Given the description of an element on the screen output the (x, y) to click on. 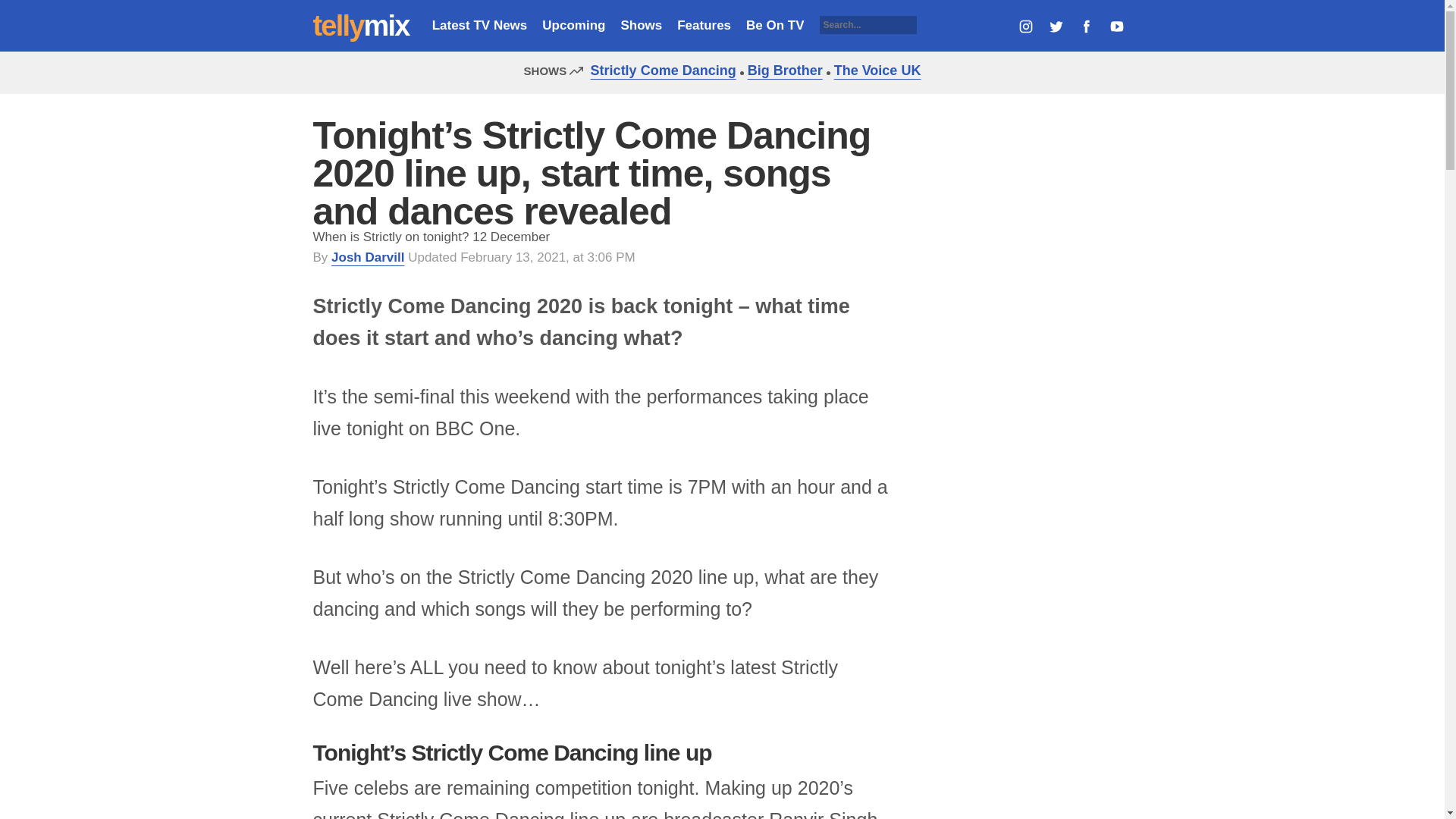
Strictly Come Dancing (659, 70)
Big Brother (780, 70)
Shows (641, 25)
Upcoming (573, 25)
The Voice UK (874, 70)
tellymix (361, 25)
Latest TV News (479, 25)
Features (703, 25)
Be On TV (775, 25)
Josh Darvill (367, 257)
